Given the description of an element on the screen output the (x, y) to click on. 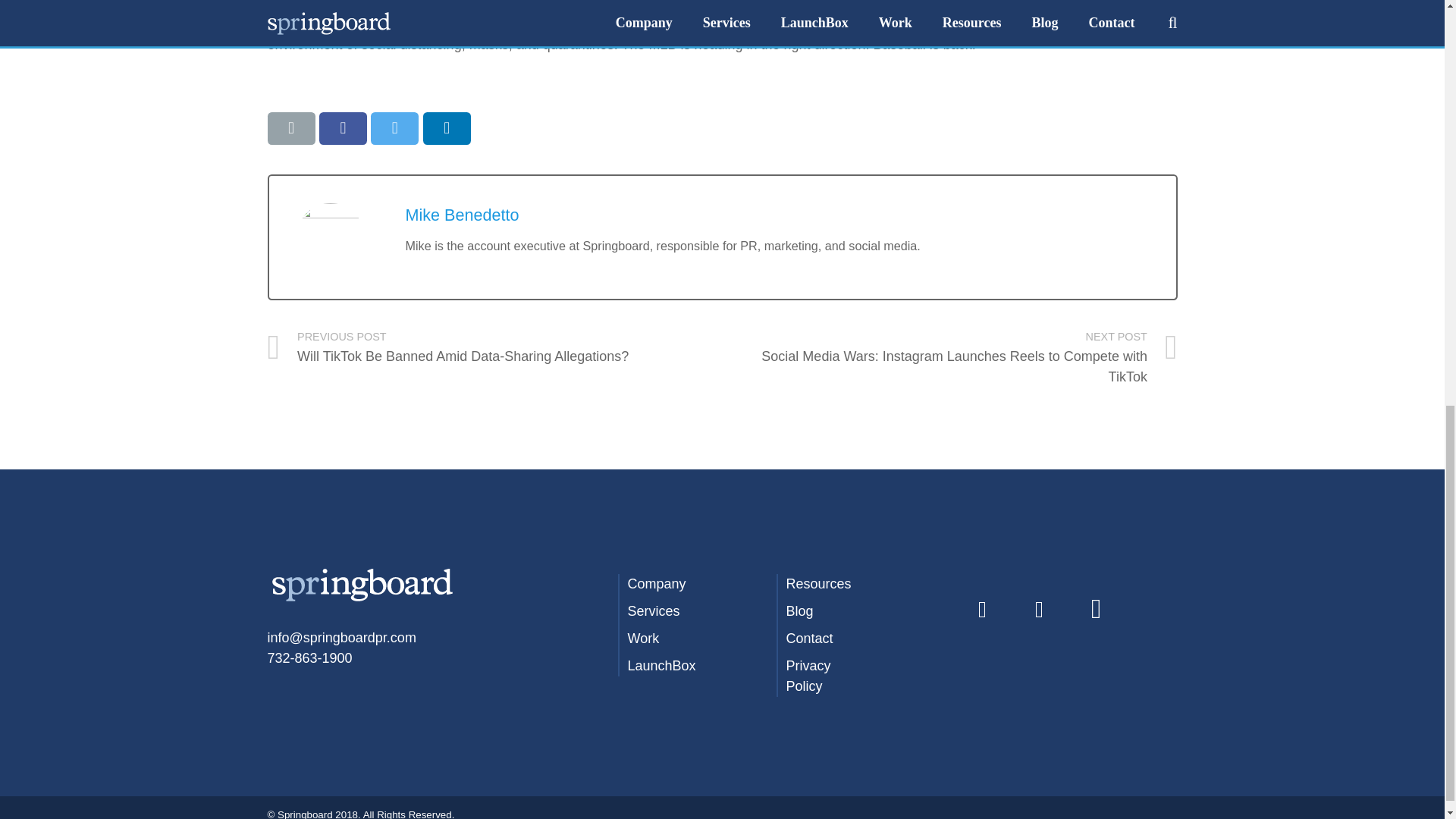
Blog (799, 611)
Resources (818, 583)
Share this (342, 128)
Share this (446, 128)
Contact (809, 638)
Email this (290, 128)
Company (656, 583)
732-863-1900 (309, 657)
Privacy Policy (807, 675)
